Given the description of an element on the screen output the (x, y) to click on. 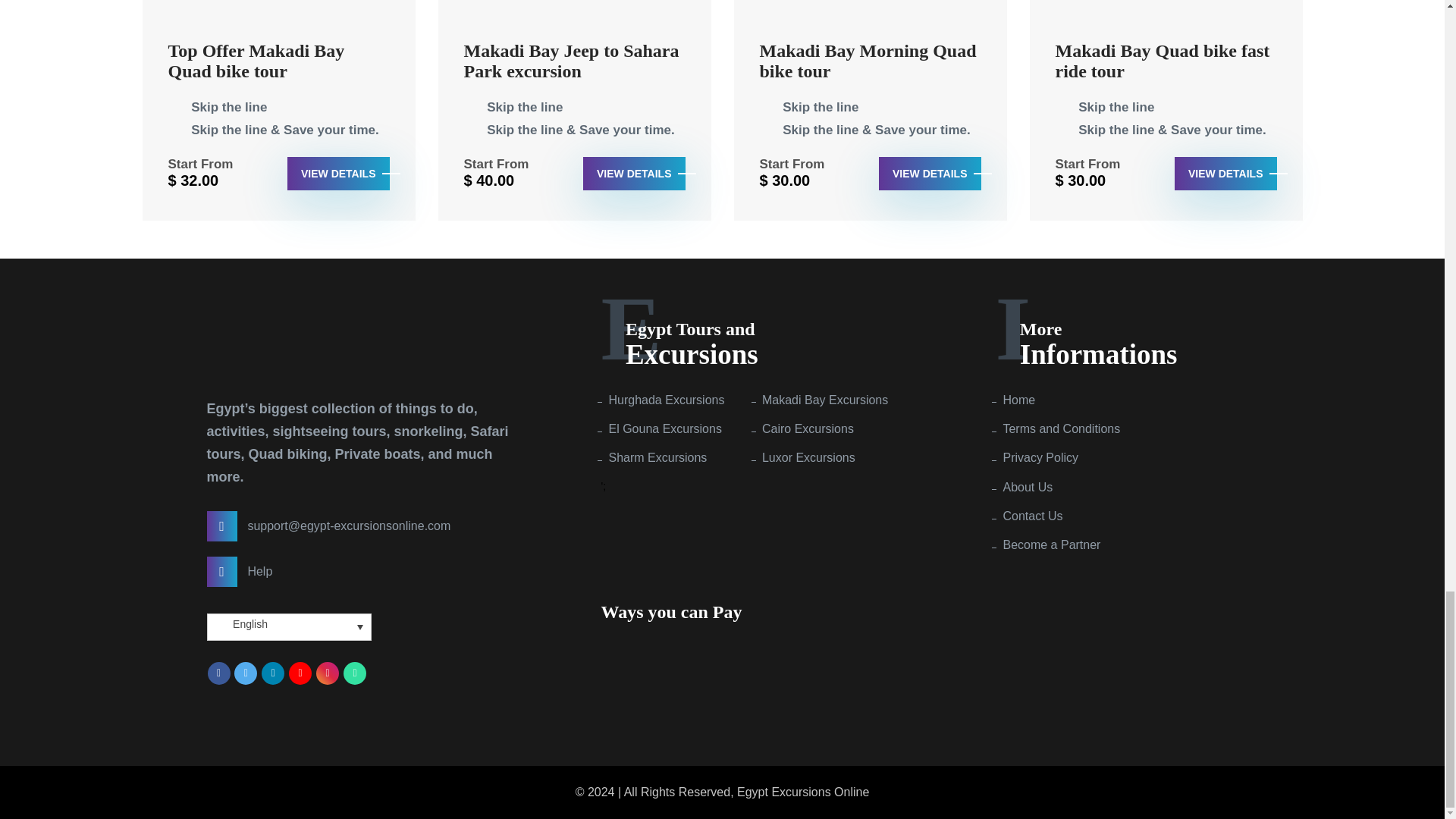
Makadi Bay Morning Quad bike tour (870, 68)
Makadi Bay Quad bike fast ride tour 4 (1166, 12)
Makadi Bay Quad bike fast ride tour (1165, 68)
Top Offer Makadi Bay Quad bike tour 1 (278, 12)
VIEW DETAILS (1225, 173)
VIEW DETAILS (930, 173)
Makadi Bay Jeep to Sahara Park excursion 2 (574, 12)
Top Offer Makadi Bay Quad bike tour (279, 68)
Makadi Bay Jeep to Sahara Park excursion (574, 68)
VIEW DETAILS (634, 173)
Makadi Bay Morning Quad bike tour 3 (870, 12)
VIEW DETAILS (338, 173)
